Given the description of an element on the screen output the (x, y) to click on. 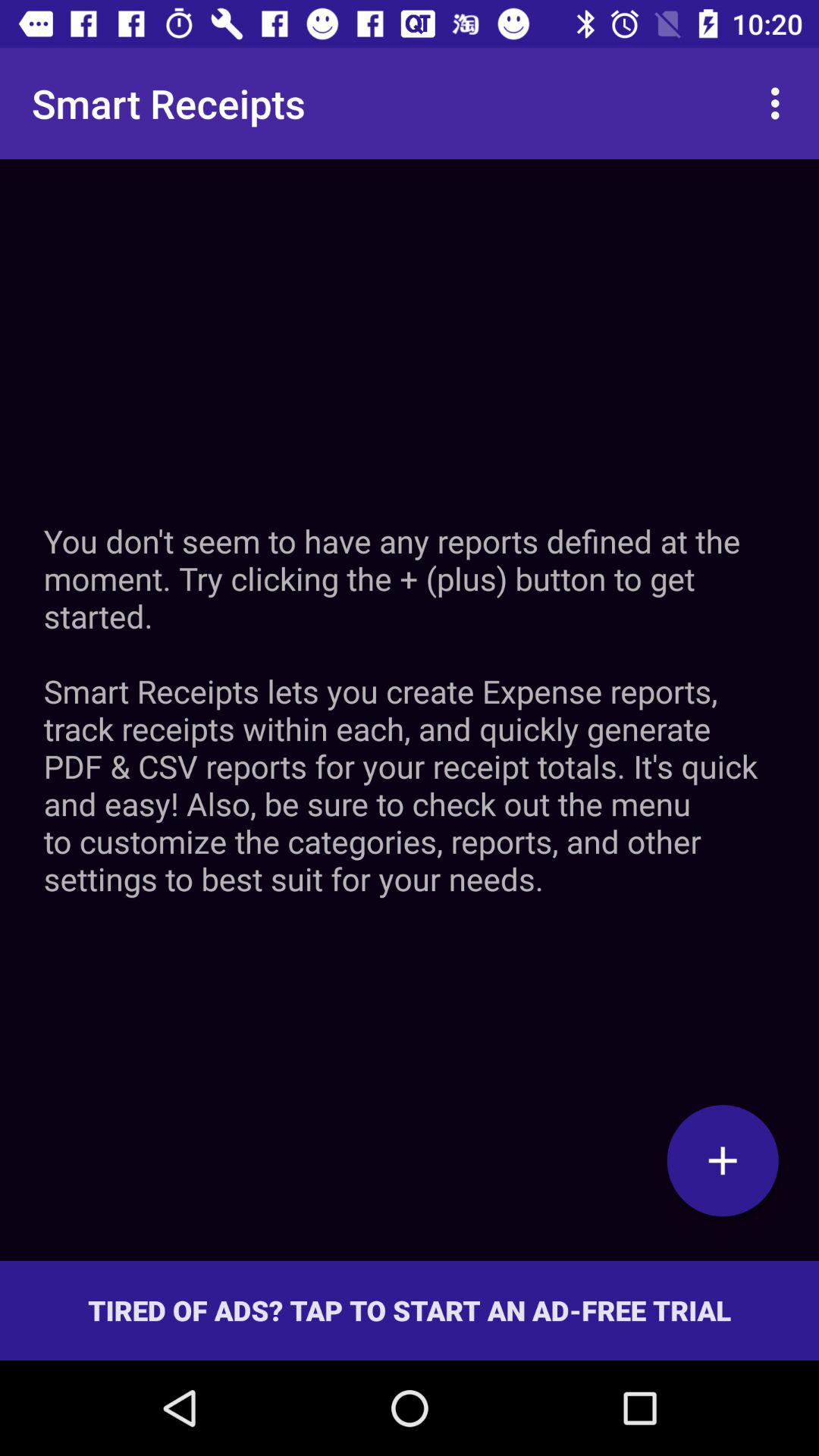
create report (722, 1160)
